Given the description of an element on the screen output the (x, y) to click on. 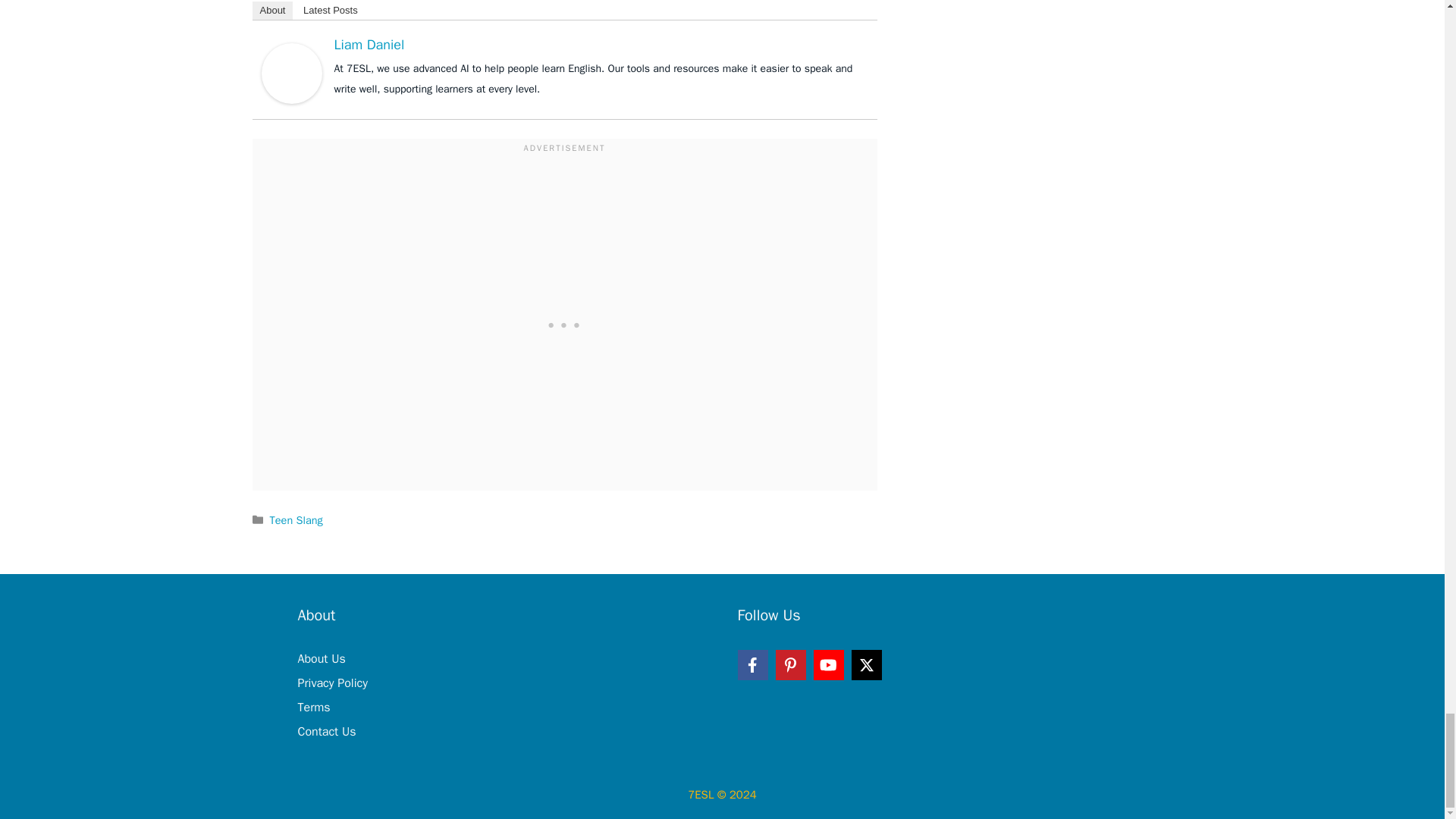
Liam Daniel (290, 72)
Latest Posts (330, 10)
About (271, 10)
Liam Daniel (368, 44)
